Given the description of an element on the screen output the (x, y) to click on. 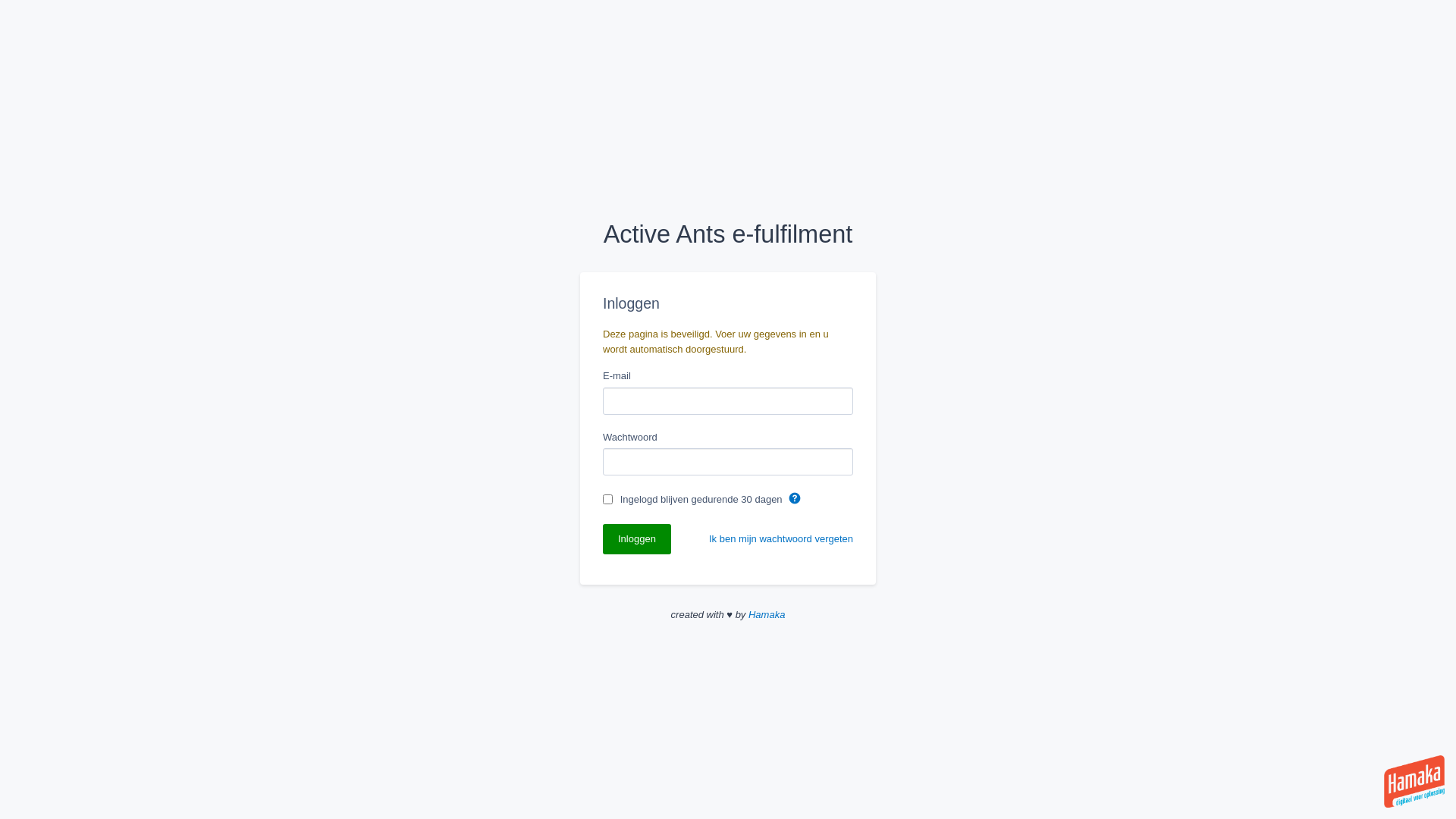
Ik ben mijn wachtwoord vergeten Element type: text (781, 538)
Inloggen Element type: text (636, 539)
Active Ants e-fulfilment Element type: text (728, 234)
Hamaka Element type: text (766, 614)
